Given the description of an element on the screen output the (x, y) to click on. 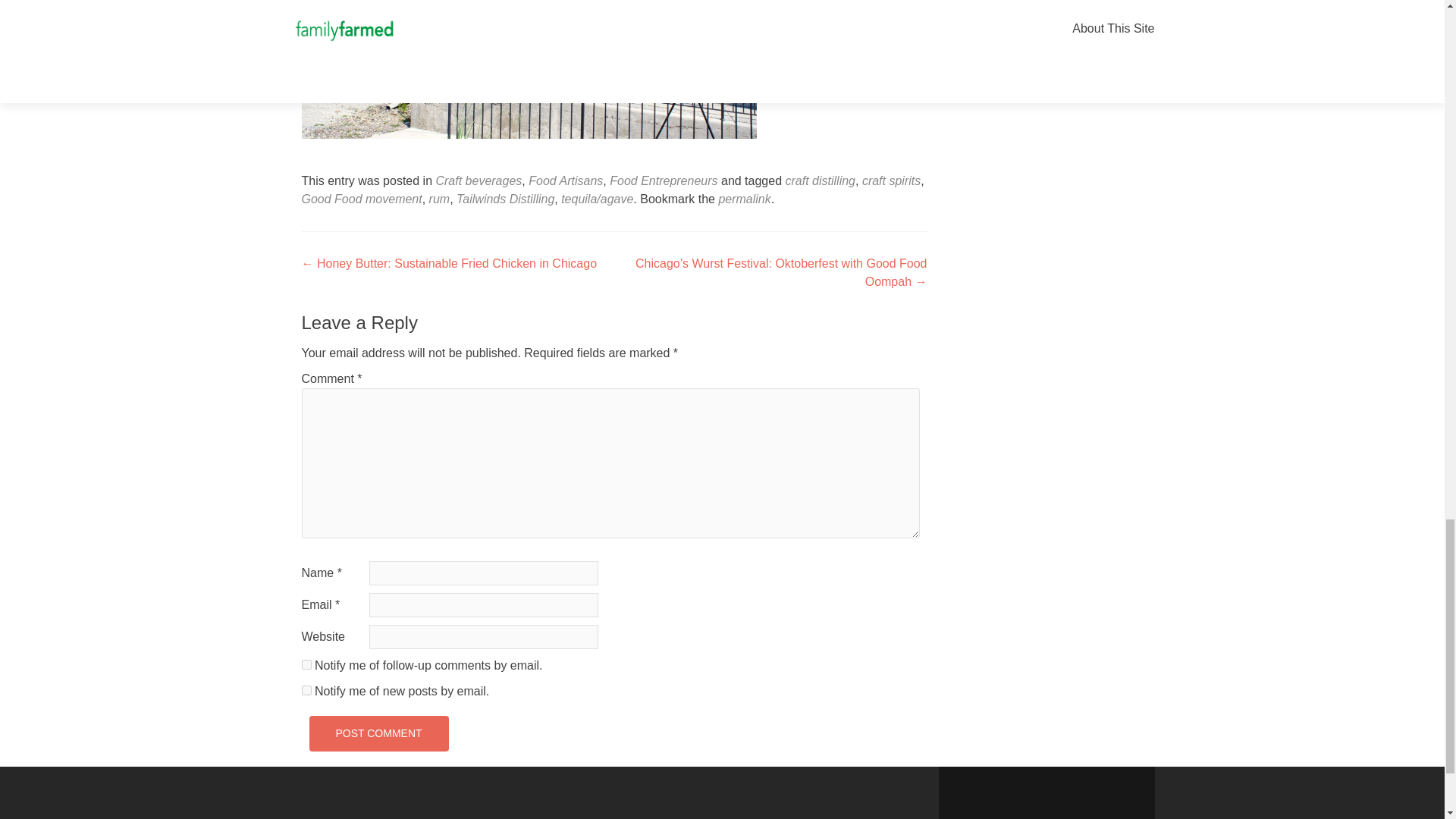
permalink (743, 198)
Tailwinds Distilling (505, 198)
Post Comment (378, 733)
craft distilling (821, 180)
rum (439, 198)
subscribe (306, 664)
Post Comment (378, 733)
Food Entrepreneurs (663, 180)
craft spirits (890, 180)
Craft beverages (478, 180)
